Given the description of an element on the screen output the (x, y) to click on. 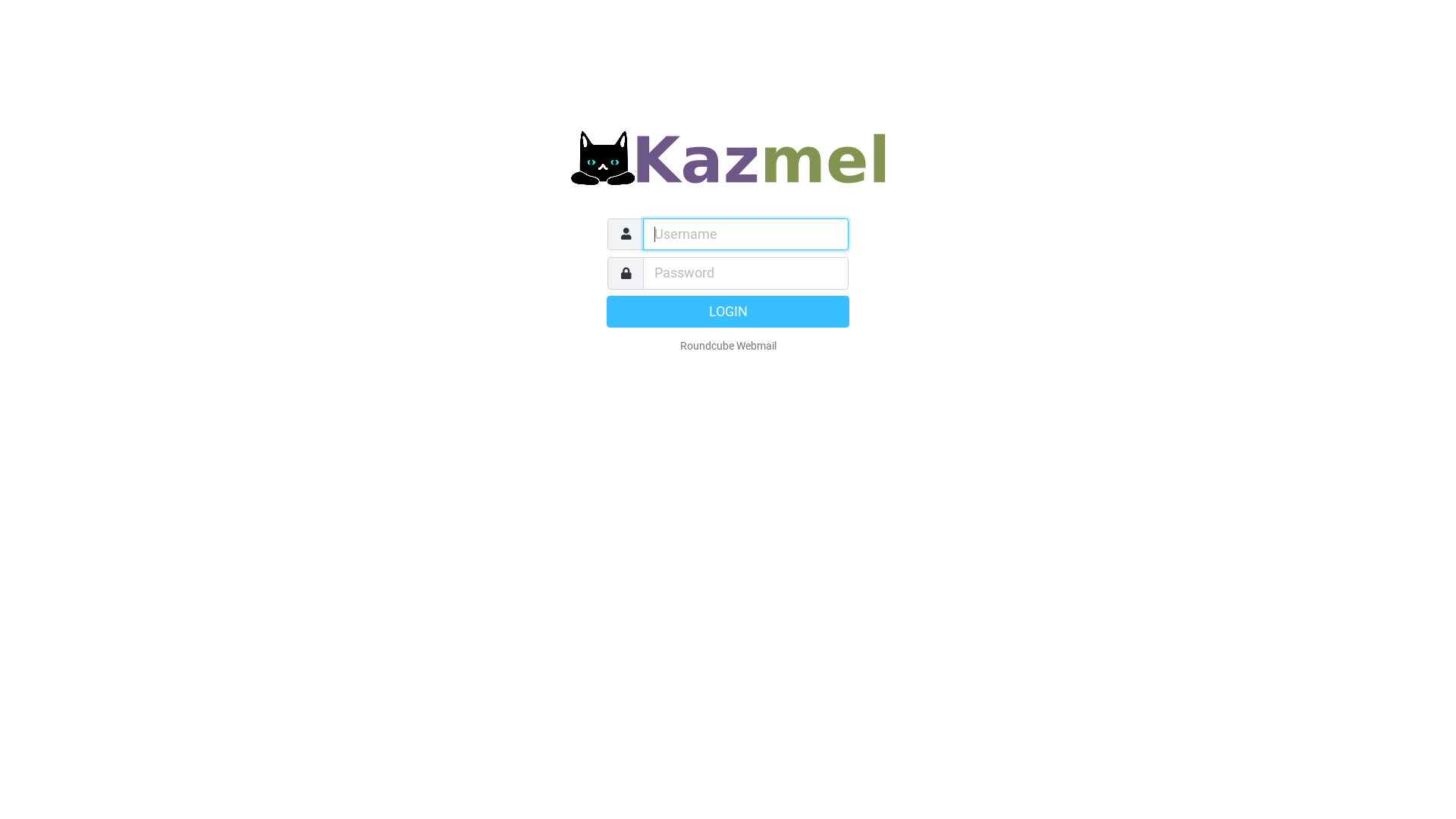
LOGIN Element type: text (727, 311)
